Given the description of an element on the screen output the (x, y) to click on. 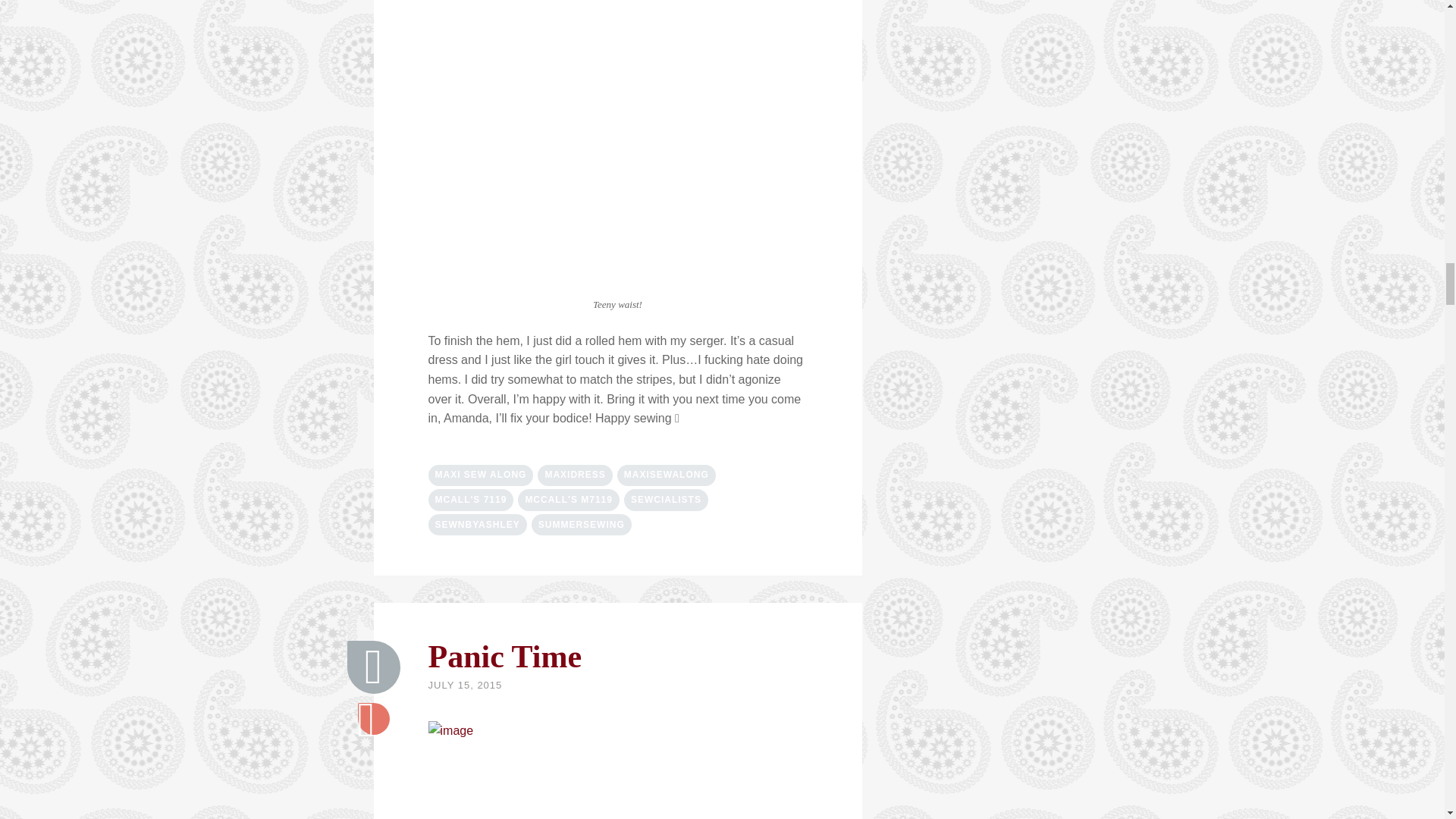
Panic Time (373, 666)
MAXI SEW ALONG (480, 475)
MCALL'S 7119 (470, 499)
MAXISEWALONG (666, 475)
MAXIDRESS (574, 475)
MCCALL'S M7119 (569, 499)
